Given the description of an element on the screen output the (x, y) to click on. 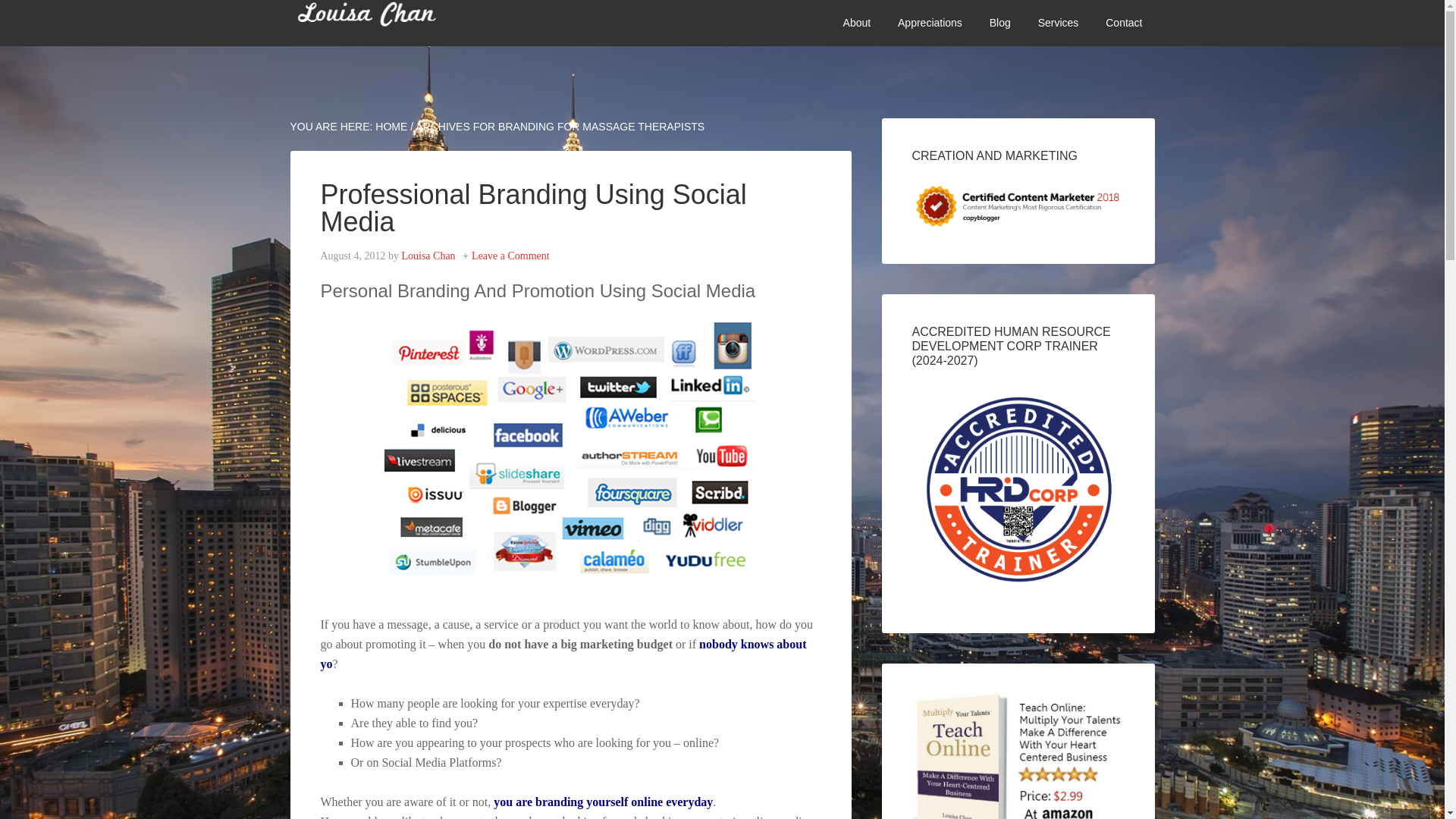
Professional Branding Using Social Media (532, 208)
Services (1058, 22)
Louisa Chan (427, 255)
LOUISA CHAN (402, 22)
Leave a Comment (510, 255)
About (857, 22)
Contact (1123, 22)
Appreciations (929, 22)
HOME (391, 126)
Blog (999, 22)
Social Media Platforms (570, 445)
